Given the description of an element on the screen output the (x, y) to click on. 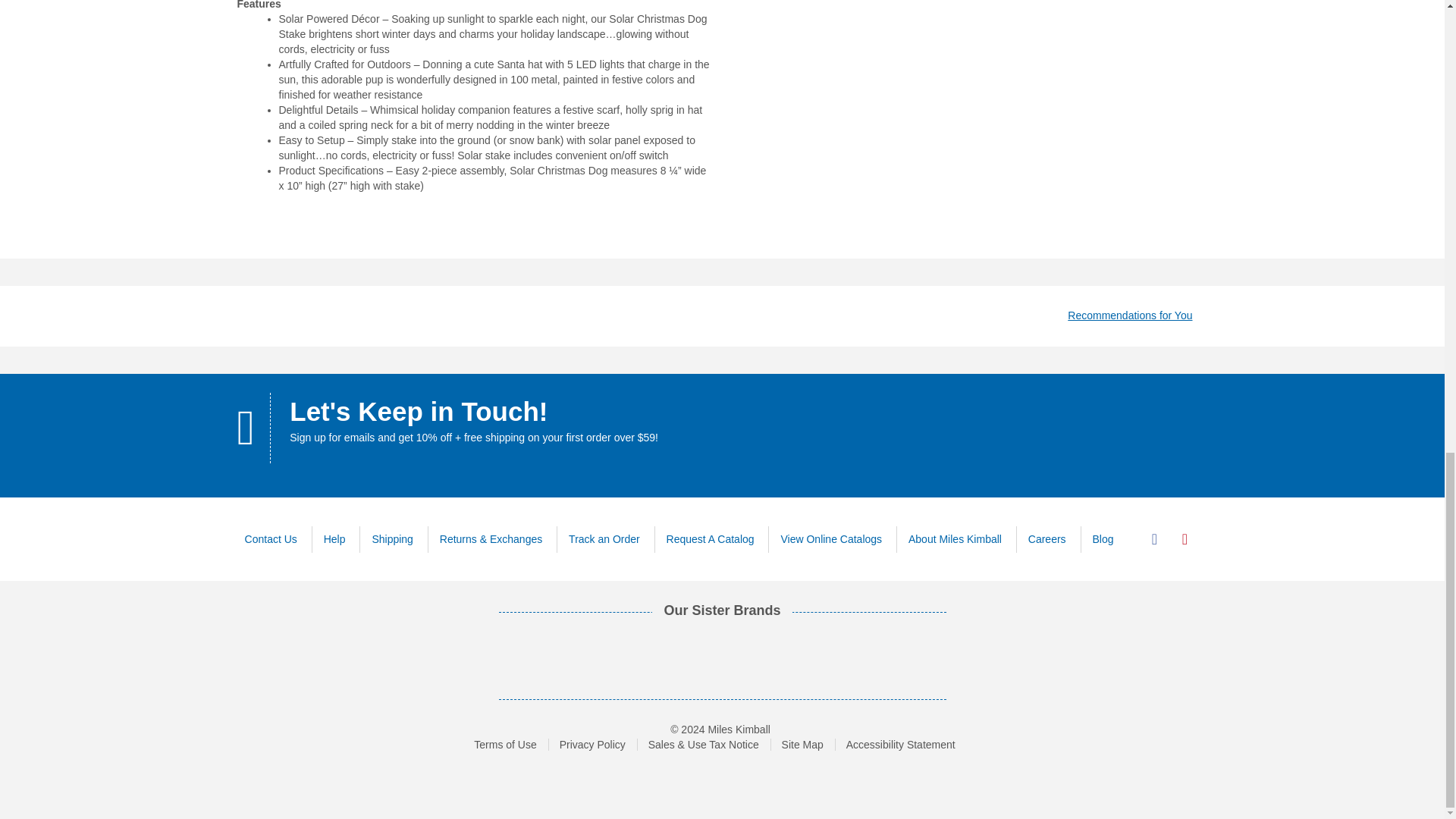
Facebook (1153, 539)
Pinterest (1184, 539)
Exposures Online (608, 657)
Dream Products (416, 657)
Dynamic Recommendations (1129, 315)
Easy Comforts (516, 657)
